Given the description of an element on the screen output the (x, y) to click on. 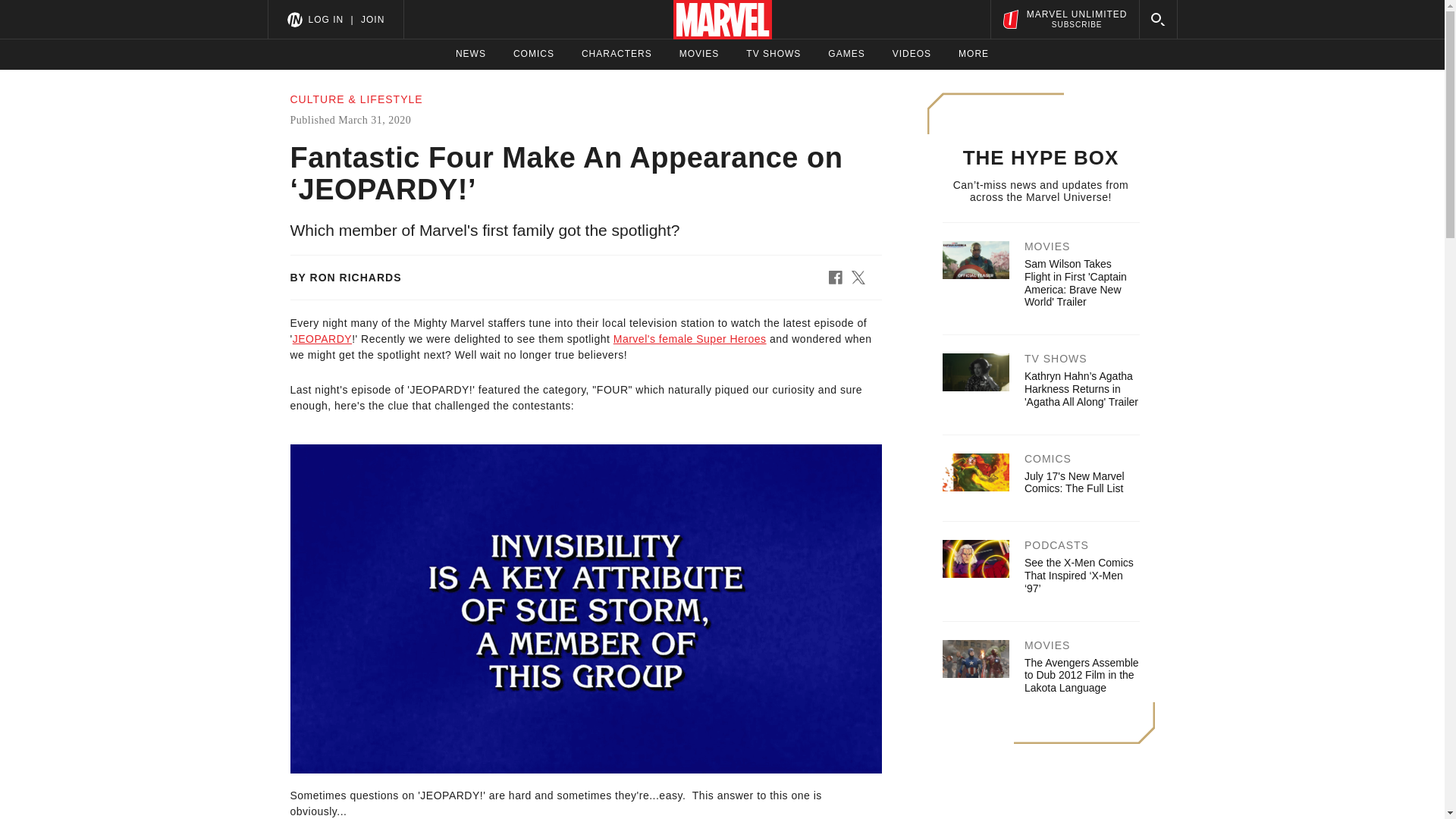
NEWS (470, 54)
Marvel's female Super Heroes (689, 338)
COMICS (533, 54)
GAMES (846, 54)
July 17's New Marvel Comics: The Full List (1074, 482)
MOVIES (699, 54)
JOIN (372, 18)
MORE (973, 54)
TV SHOWS (772, 54)
JEOPARDY (1064, 19)
LOG IN (322, 338)
CHARACTERS (325, 18)
